Given the description of an element on the screen output the (x, y) to click on. 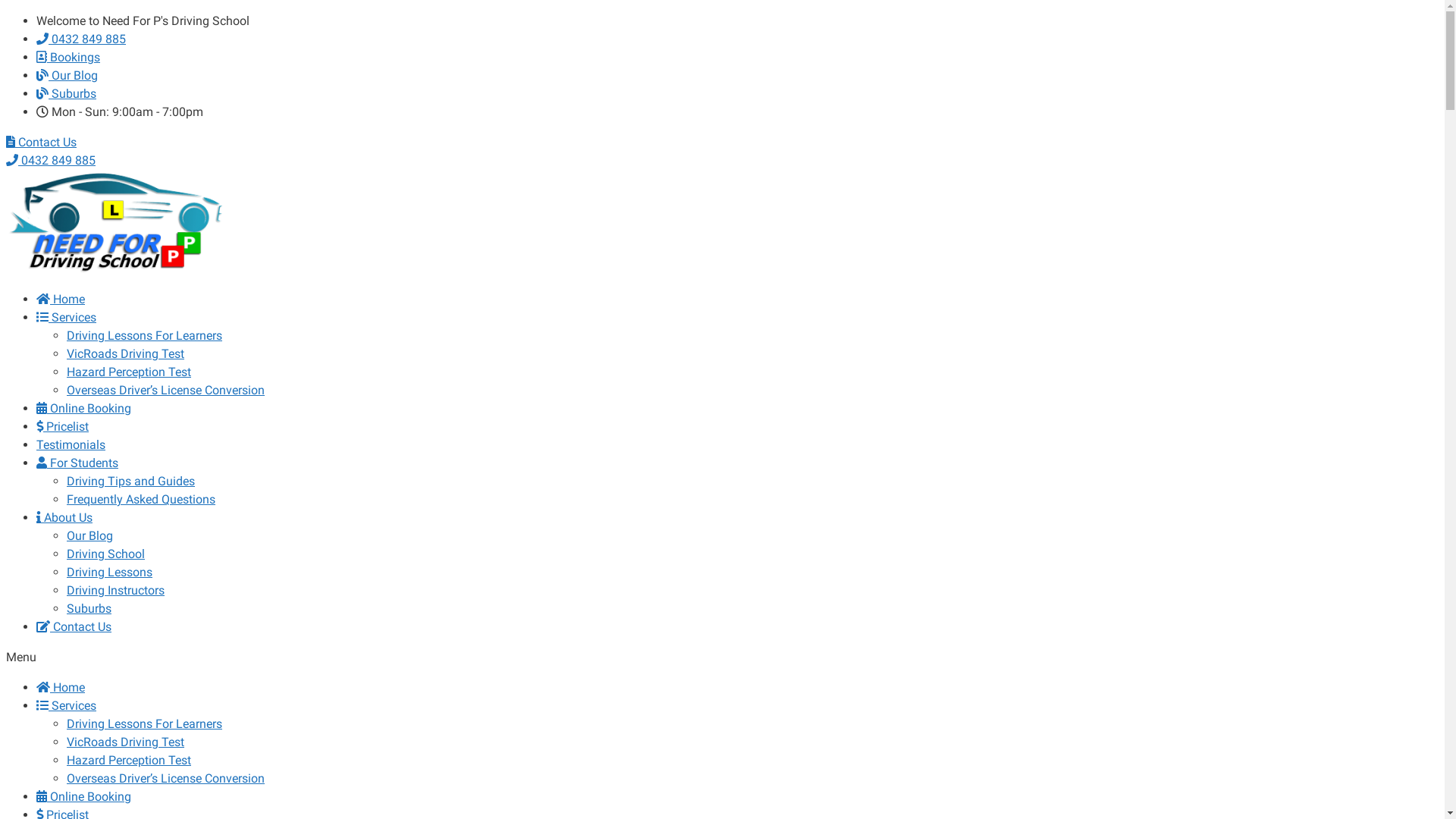
Driving Lessons Element type: text (109, 571)
VicRoads Driving Test Element type: text (125, 353)
Hazard Perception Test Element type: text (128, 760)
Services Element type: text (66, 705)
Driving School Element type: text (105, 553)
Skip to content Element type: text (5, 11)
Driving Lessons For Learners Element type: text (144, 335)
Driving Tips and Guides Element type: text (130, 480)
Suburbs Element type: text (66, 93)
For Students Element type: text (77, 462)
Frequently Asked Questions Element type: text (140, 499)
Contact Us Element type: text (41, 141)
Pricelist Element type: text (62, 426)
Home Element type: text (60, 298)
Our Blog Element type: text (89, 535)
Driving Instructors Element type: text (115, 590)
Our Blog Element type: text (66, 75)
Driving Lessons For Learners Element type: text (144, 723)
0432 849 885 Element type: text (50, 160)
Online Booking Element type: text (83, 796)
Bookings Element type: text (68, 57)
Testimonials Element type: text (70, 444)
Home Element type: text (60, 687)
Contact Us Element type: text (73, 626)
VicRoads Driving Test Element type: text (125, 741)
Online Booking Element type: text (83, 408)
Suburbs Element type: text (88, 608)
About Us Element type: text (64, 517)
Services Element type: text (66, 317)
0432 849 885 Element type: text (80, 38)
Hazard Perception Test Element type: text (128, 371)
